Given the description of an element on the screen output the (x, y) to click on. 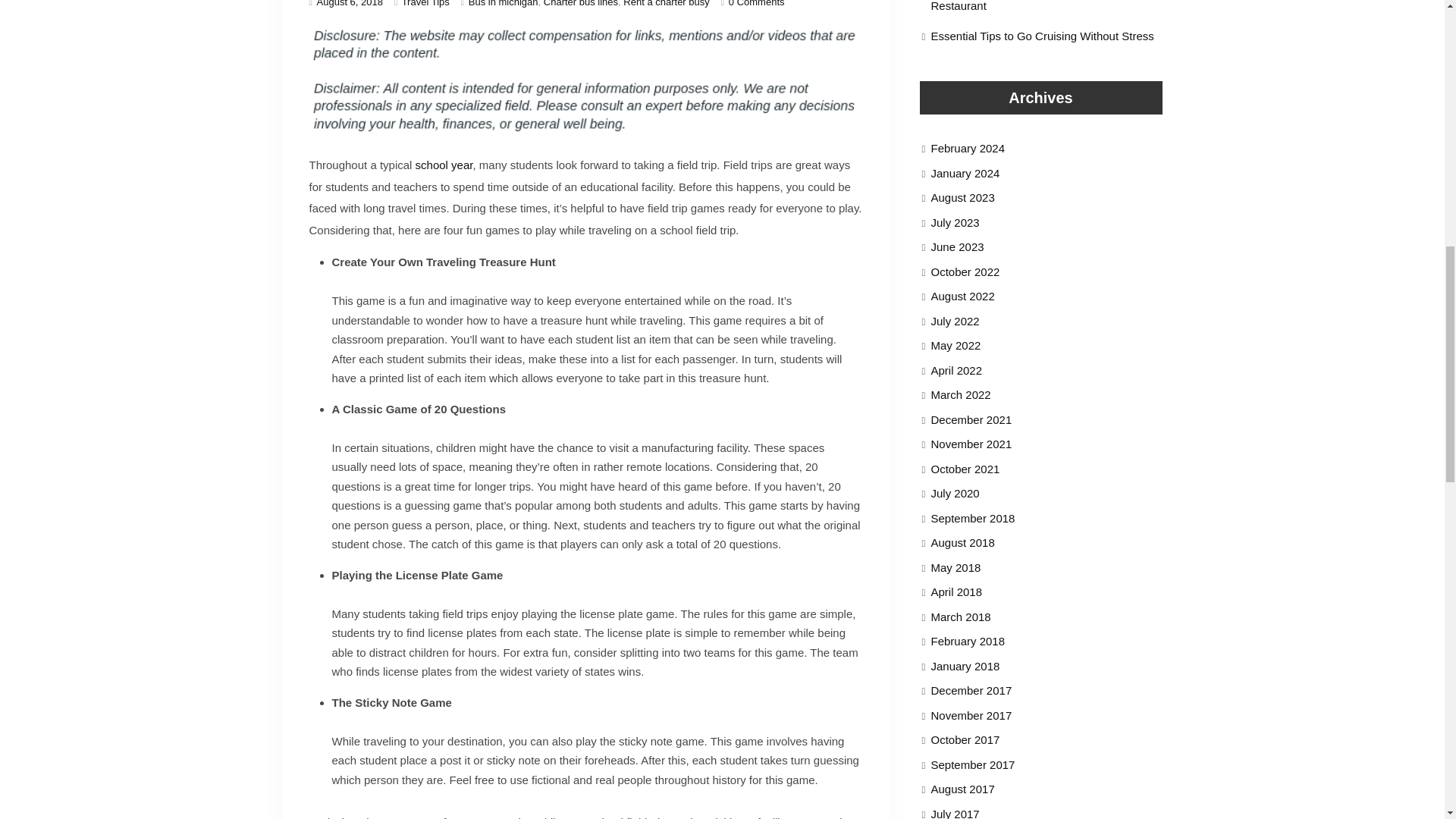
school year (443, 164)
July 2023 (955, 222)
Bus in michigan (503, 3)
Your Guide to Finding a Genuine Italian Restaurant (1030, 6)
Rent a charter busy (666, 3)
February 2024 (968, 148)
0 Comments (756, 3)
Essential Tips to Go Cruising Without Stress (1042, 35)
January 2024 (965, 173)
August 6, 2018 (349, 3)
